Given the description of an element on the screen output the (x, y) to click on. 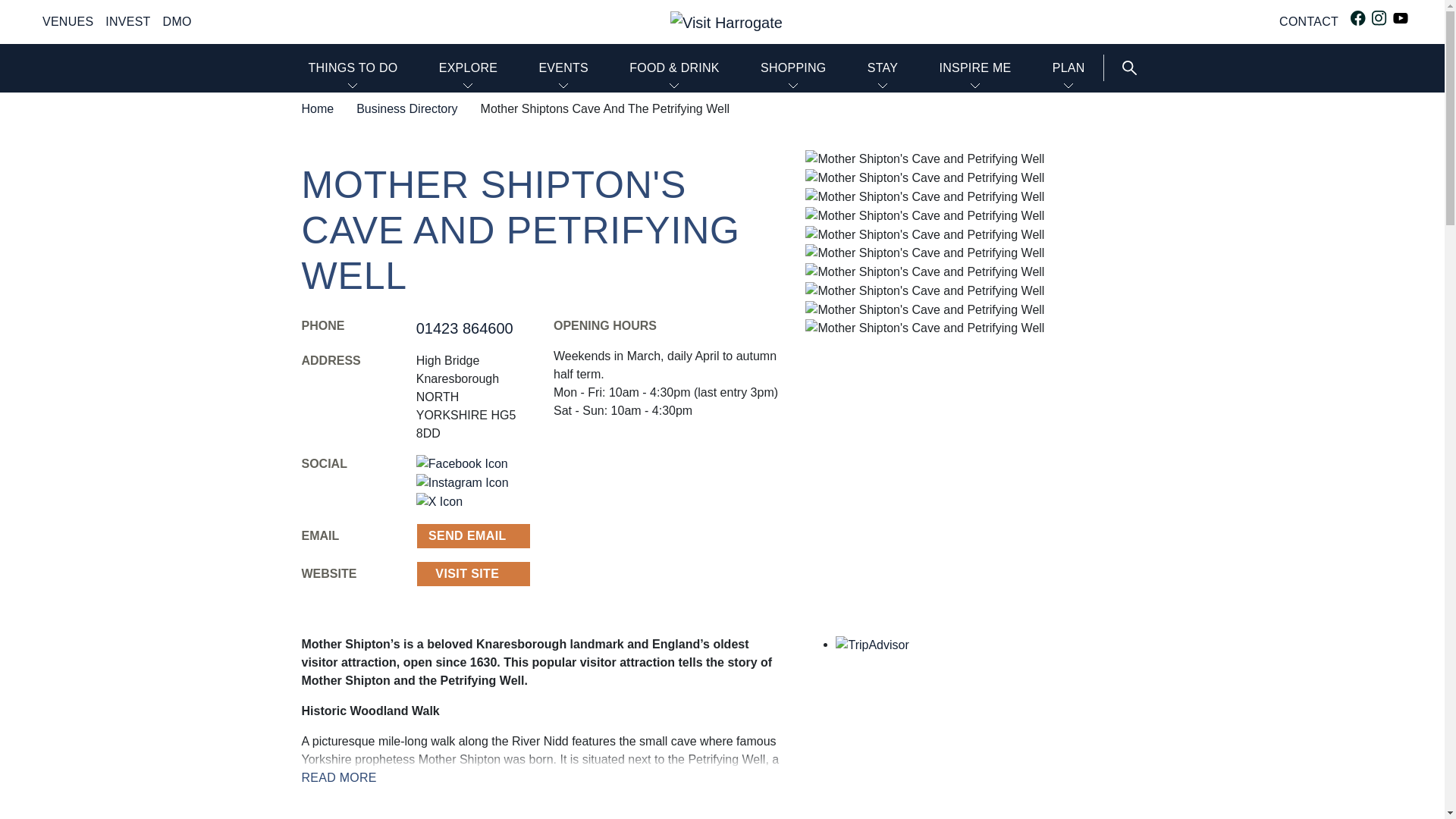
INVEST (127, 21)
Visit Harrogate Youtube (1400, 17)
Visit Harrogate Instagram (1379, 17)
Things To Do (352, 68)
DMO (177, 21)
EXPLORE (468, 68)
Visit Harrogate Facebook (1358, 17)
VENUES (67, 21)
DMO (177, 21)
Venues (67, 21)
Invest (127, 21)
Contact (1308, 21)
THINGS TO DO (352, 68)
Explore (468, 68)
CONTACT (1308, 21)
